Given the description of an element on the screen output the (x, y) to click on. 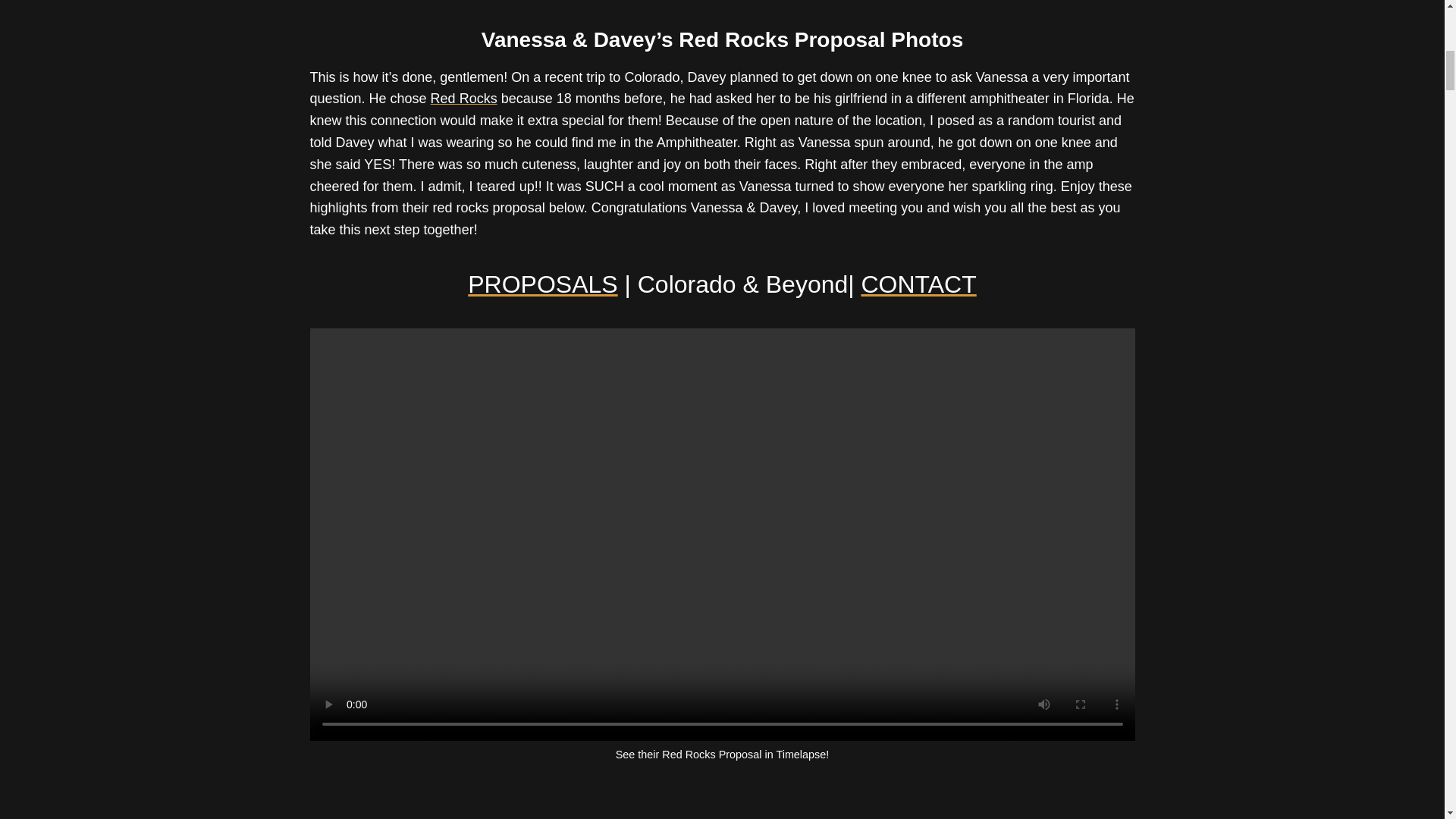
CONTACT (917, 284)
Red Rocks (463, 98)
PROPOSALS (542, 284)
